Given the description of an element on the screen output the (x, y) to click on. 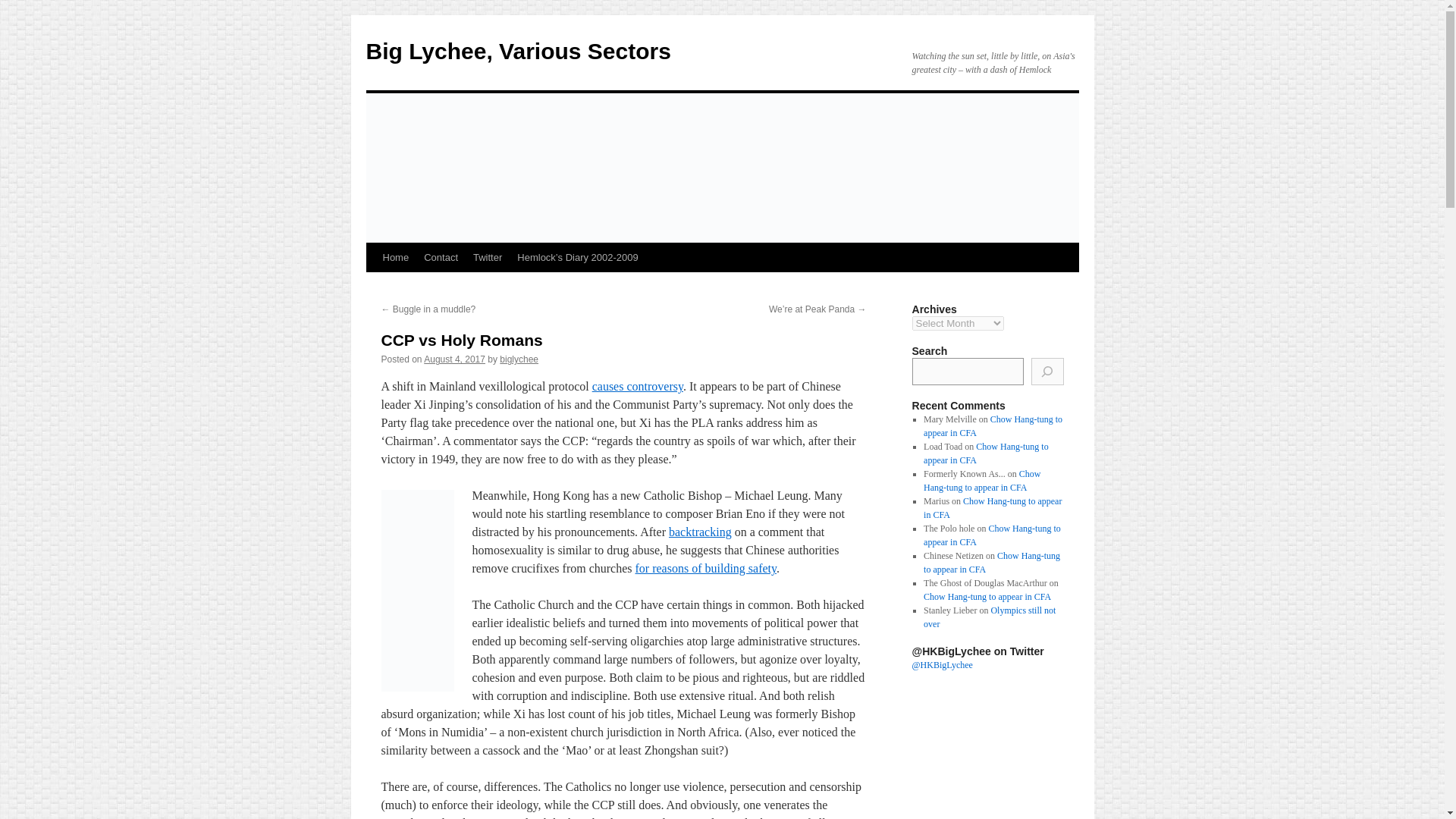
Chow Hang-tung to appear in CFA (992, 508)
Twitter (487, 257)
Chow Hang-tung to appear in CFA (985, 453)
Chow Hang-tung to appear in CFA (982, 480)
biglychee (518, 358)
11:44 am (453, 358)
Chow Hang-tung to appear in CFA (992, 426)
August 4, 2017 (453, 358)
Home (395, 257)
for reasons of building safety (705, 567)
causes controversy (637, 386)
Chow Hang-tung to appear in CFA (992, 535)
Chow Hang-tung to appear in CFA (991, 562)
backtracking (700, 531)
View all posts by biglychee (518, 358)
